Given the description of an element on the screen output the (x, y) to click on. 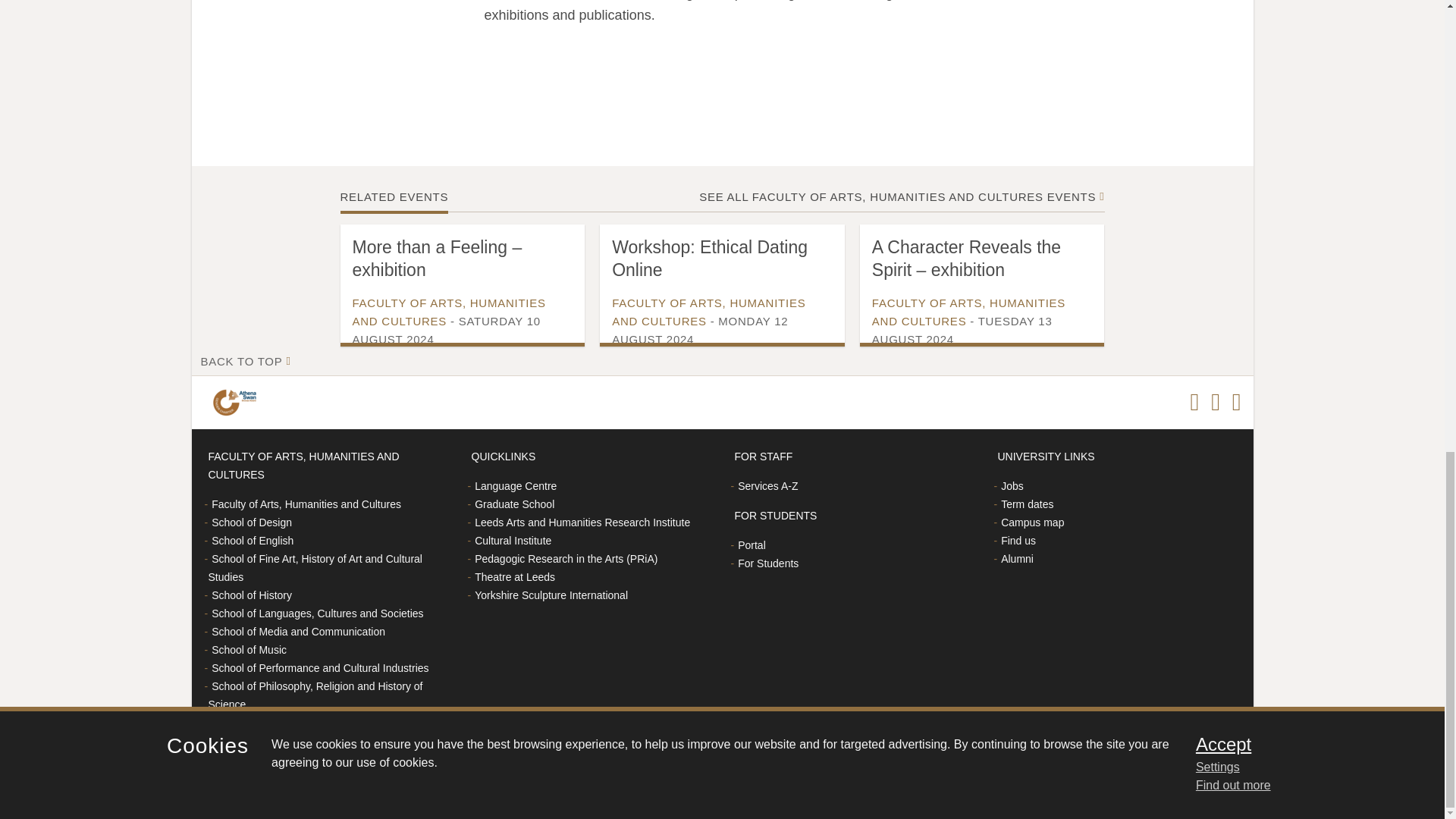
Visit Athena Swan Bronze (236, 402)
